Given the description of an element on the screen output the (x, y) to click on. 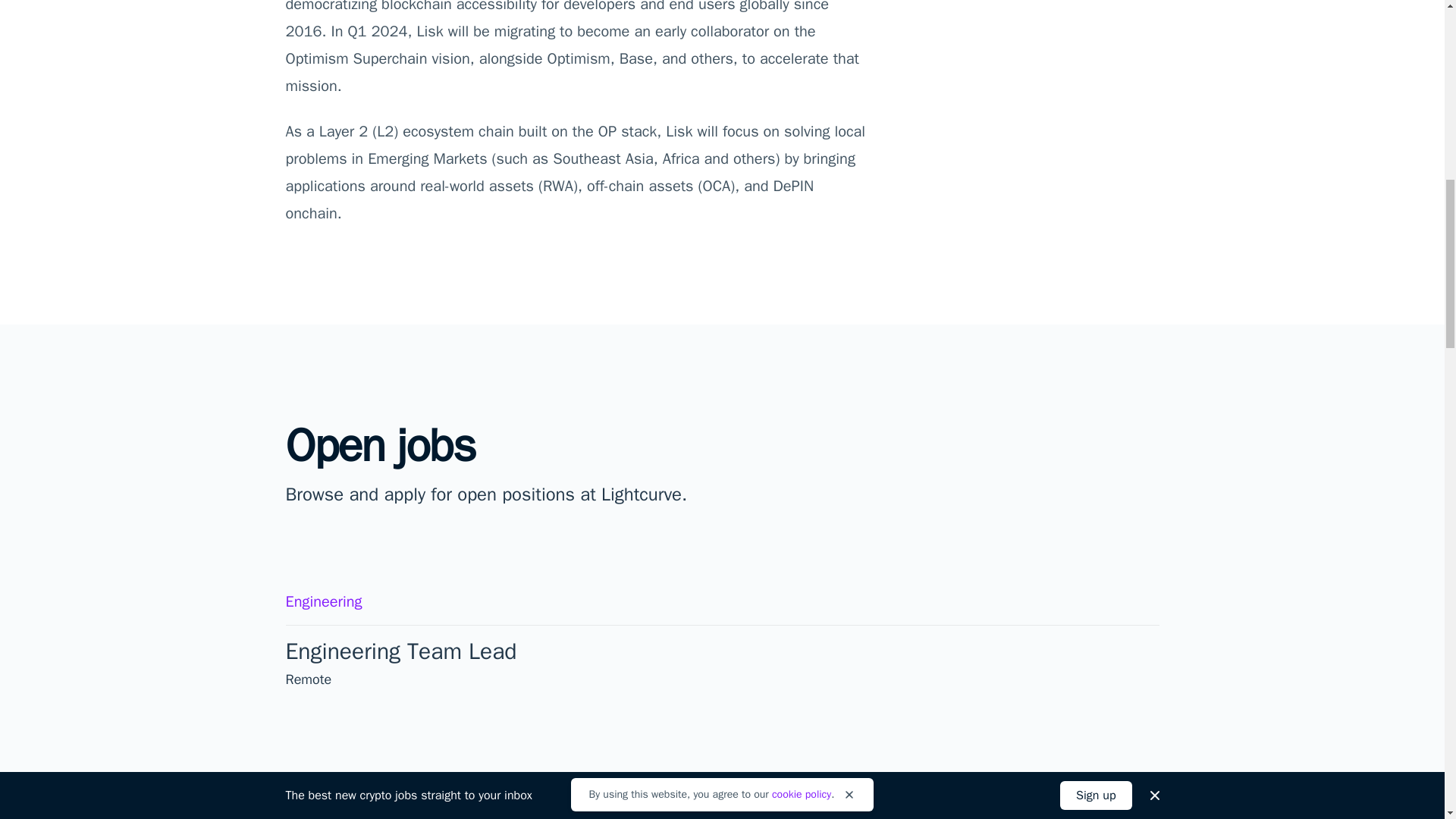
Engineering Team Lead (416, 651)
Remote (308, 679)
Engineering (323, 601)
